Given the description of an element on the screen output the (x, y) to click on. 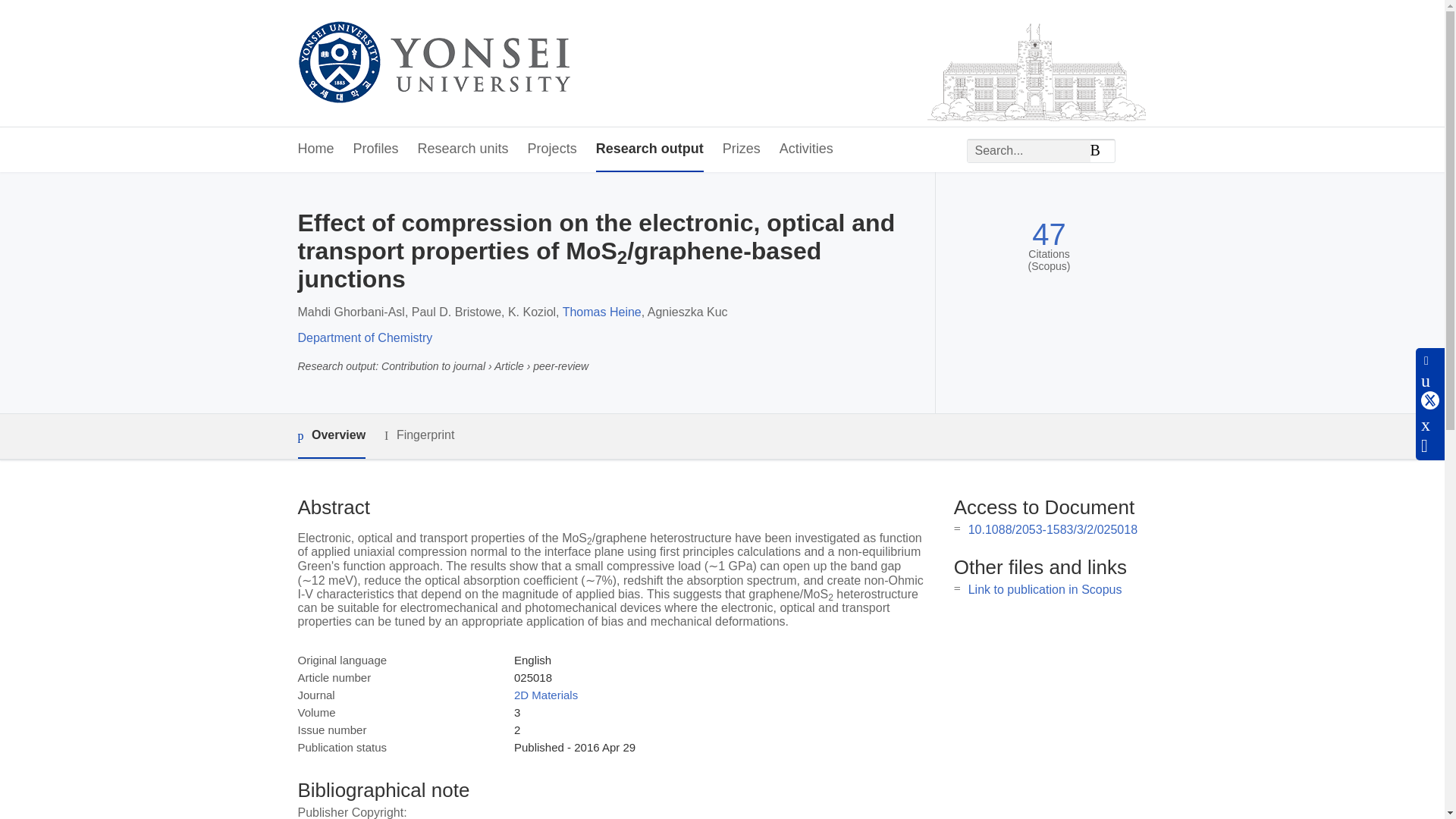
47 (1048, 234)
Research output (649, 149)
Link to publication in Scopus (1045, 589)
Thomas Heine (602, 311)
Yonsei University Home (433, 63)
Department of Chemistry (364, 337)
Activities (805, 149)
Profiles (375, 149)
Fingerprint (419, 435)
